Given the description of an element on the screen output the (x, y) to click on. 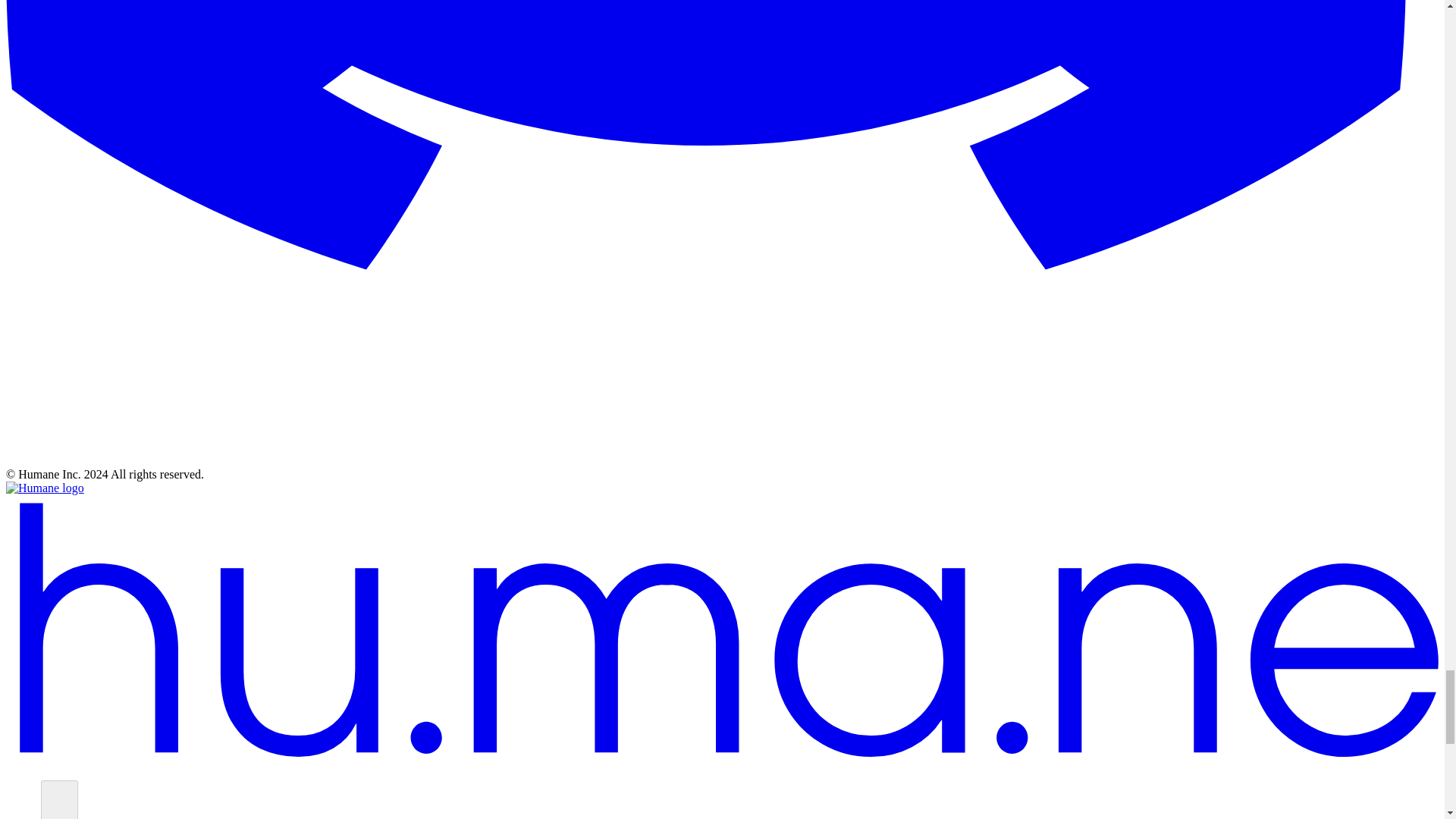
Humane (44, 487)
